Given the description of an element on the screen output the (x, y) to click on. 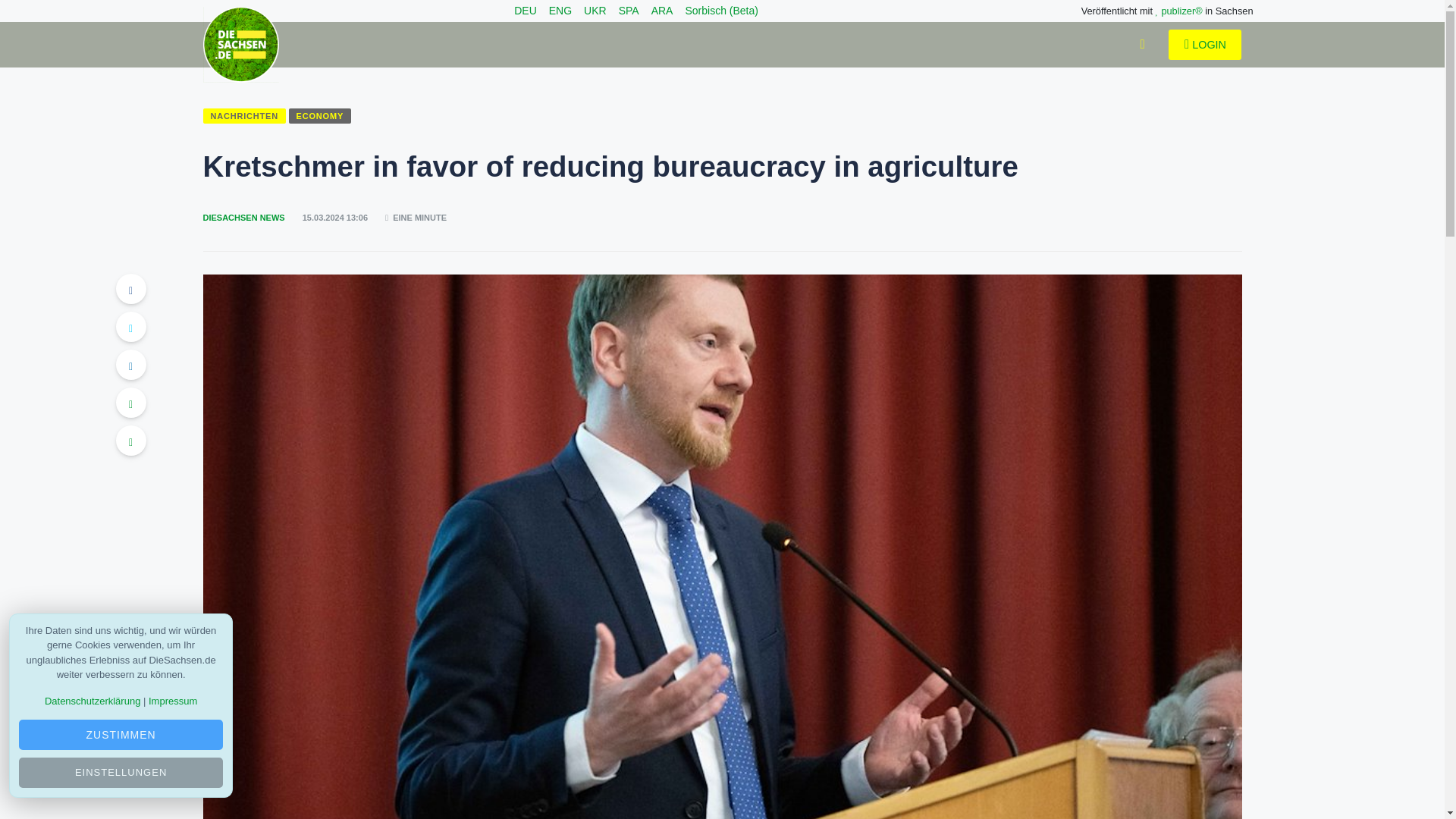
ARA (661, 10)
UKR (595, 10)
DEU (525, 10)
Nachrichten aus Sachsen in deiner Sprache: Deutsch (525, 10)
ENG (560, 10)
SPA (628, 10)
Nachrichten aus Sachsen in deiner Sprache: English (560, 10)
